Given the description of an element on the screen output the (x, y) to click on. 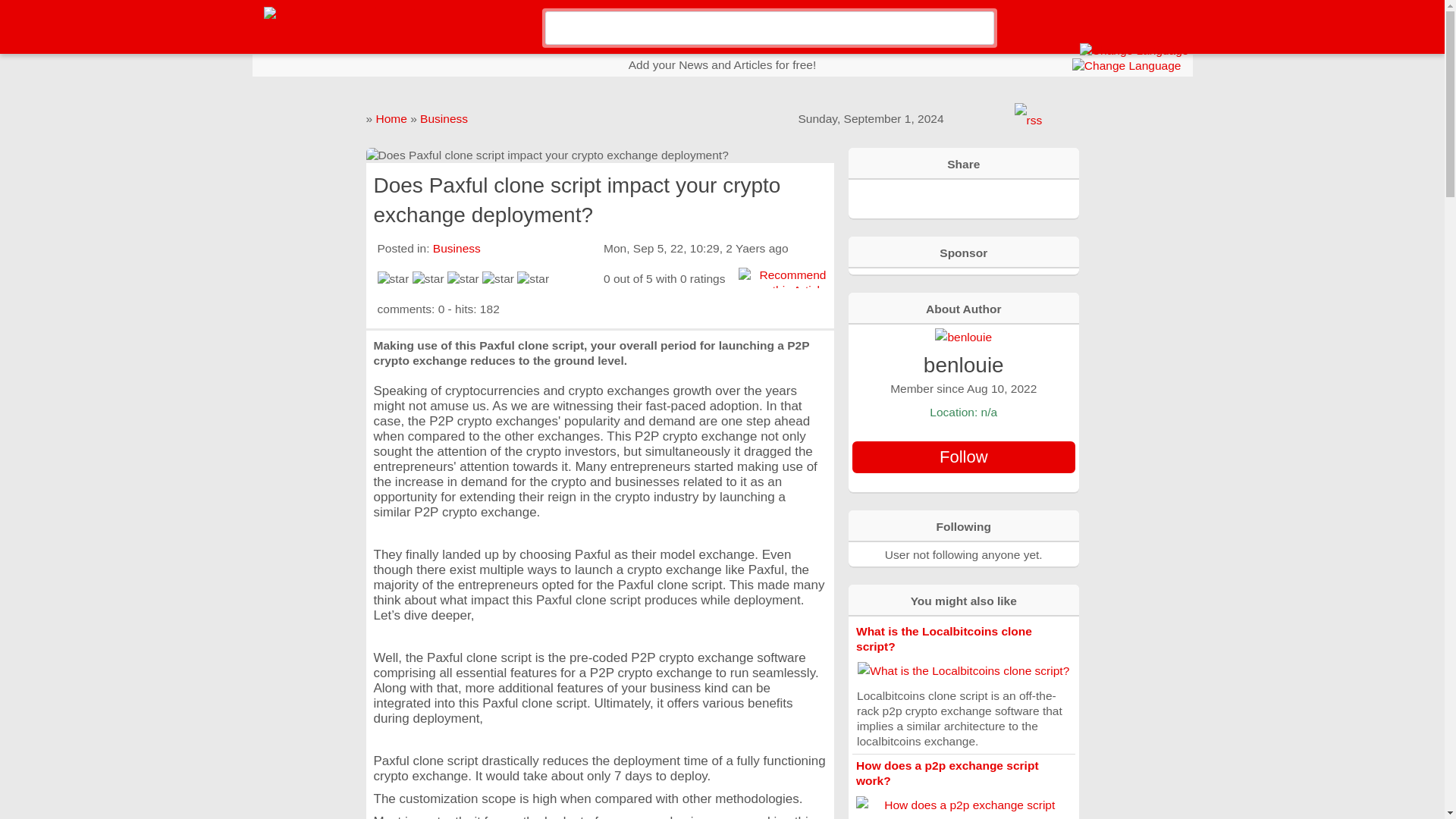
Business (456, 247)
ArticleTed -  News and Articles (346, 12)
Share this page on stumbleupon (977, 197)
Share this page on digg (1031, 197)
How does a p2p exchange script work? (947, 773)
Share this page on twitter (949, 197)
Share this page on facebook (895, 197)
Share this page on tumblr (1004, 197)
Change Language (1134, 50)
Change Language (1125, 65)
